Given the description of an element on the screen output the (x, y) to click on. 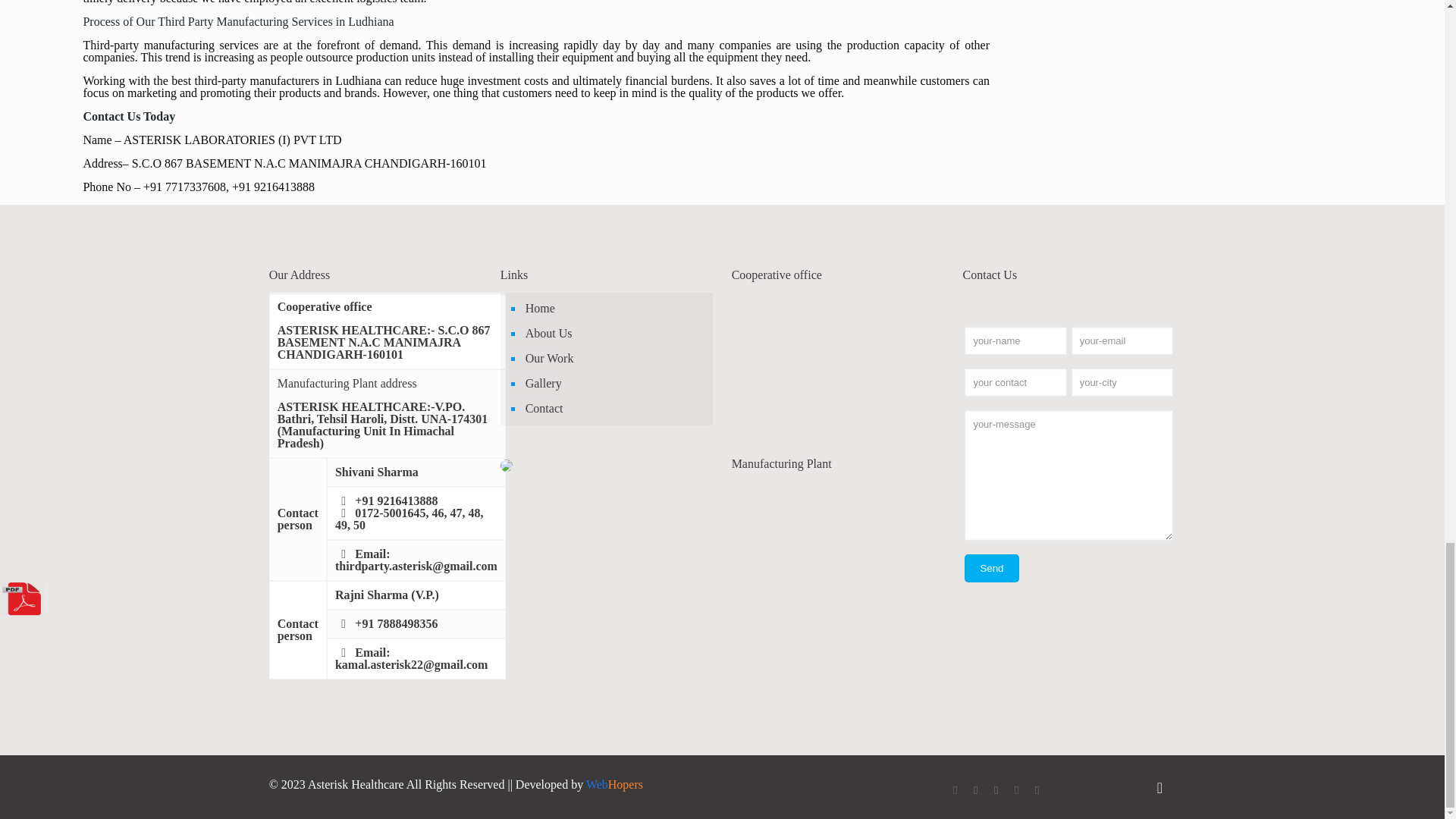
LinkedIn (996, 789)
Facebook (954, 789)
Twitter (976, 789)
Send (990, 568)
Instagram (1037, 789)
Pinterest (1017, 789)
